Given the description of an element on the screen output the (x, y) to click on. 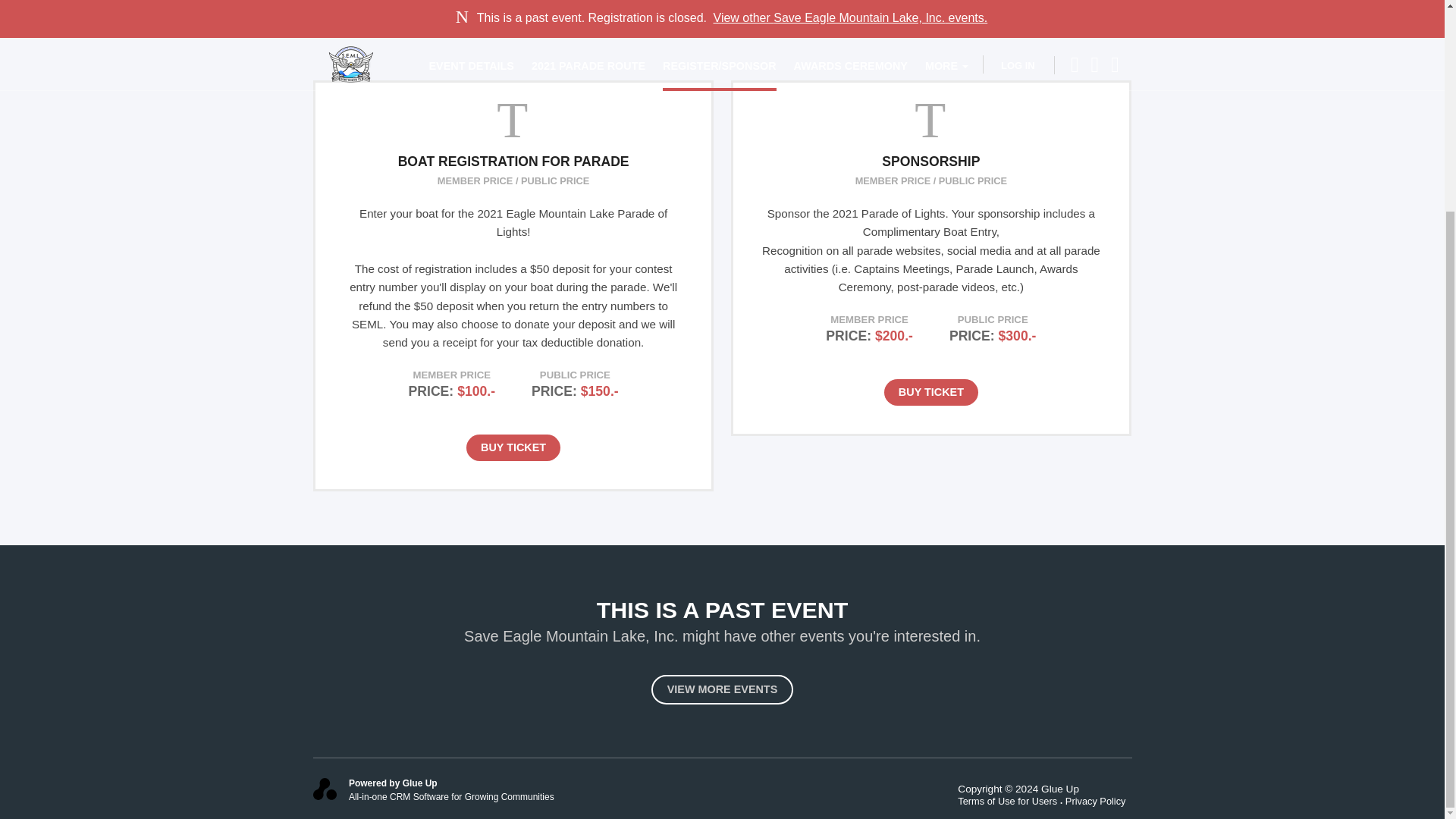
Privacy Policy (1098, 800)
BUY TICKET (512, 447)
VIEW MORE EVENTS (721, 689)
BUY TICKET (930, 392)
Terms of Use for Users (1011, 800)
